Given the description of an element on the screen output the (x, y) to click on. 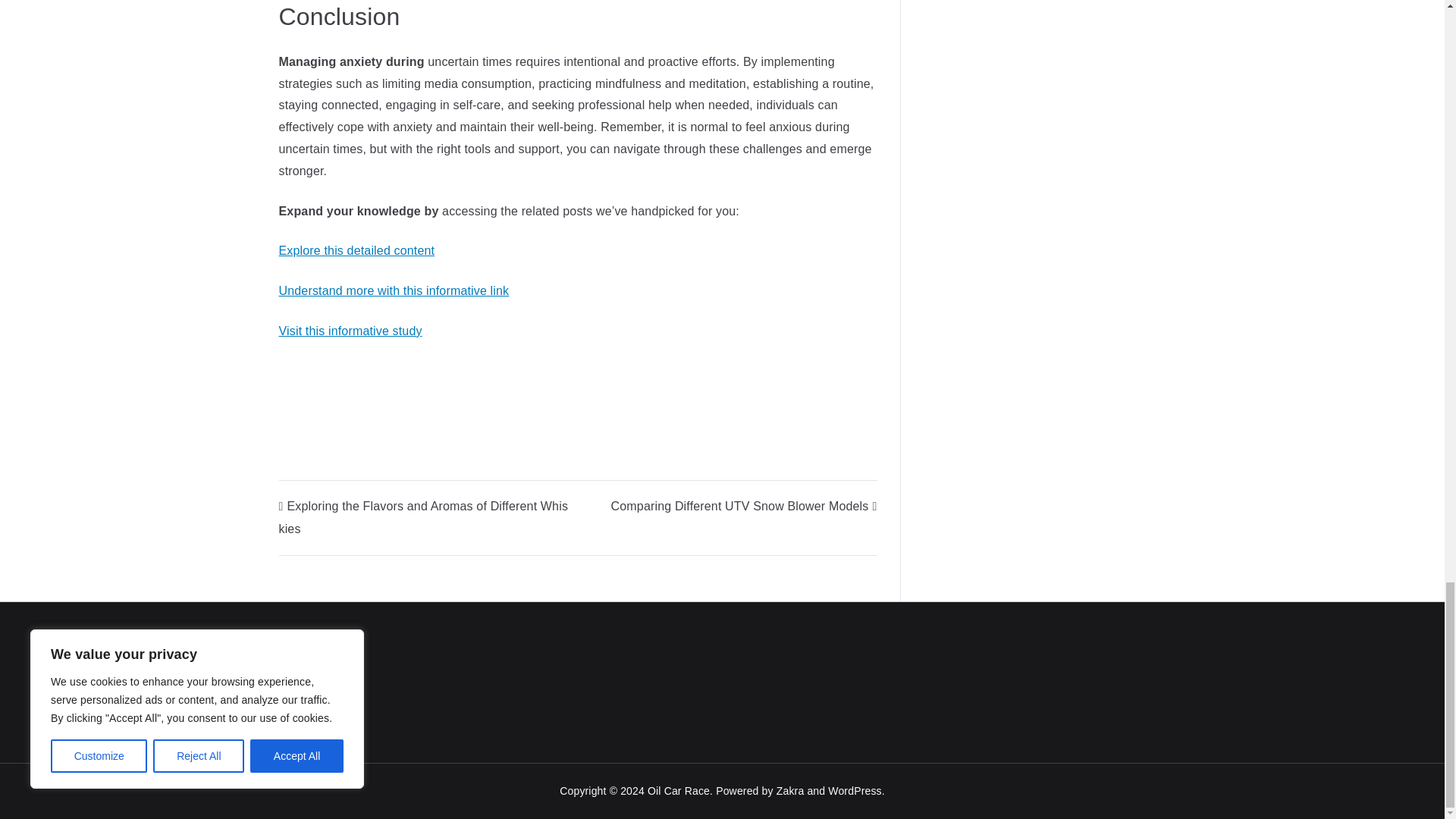
Comparing Different UTV Snow Blower Models (744, 505)
Oil Car Race (678, 790)
Explore this detailed content (357, 250)
Exploring the Flavors and Aromas of Different Whiskies (424, 517)
Visit this informative study (350, 330)
Zakra (790, 790)
WordPress (854, 790)
Understand more with this informative link (394, 290)
